Given the description of an element on the screen output the (x, y) to click on. 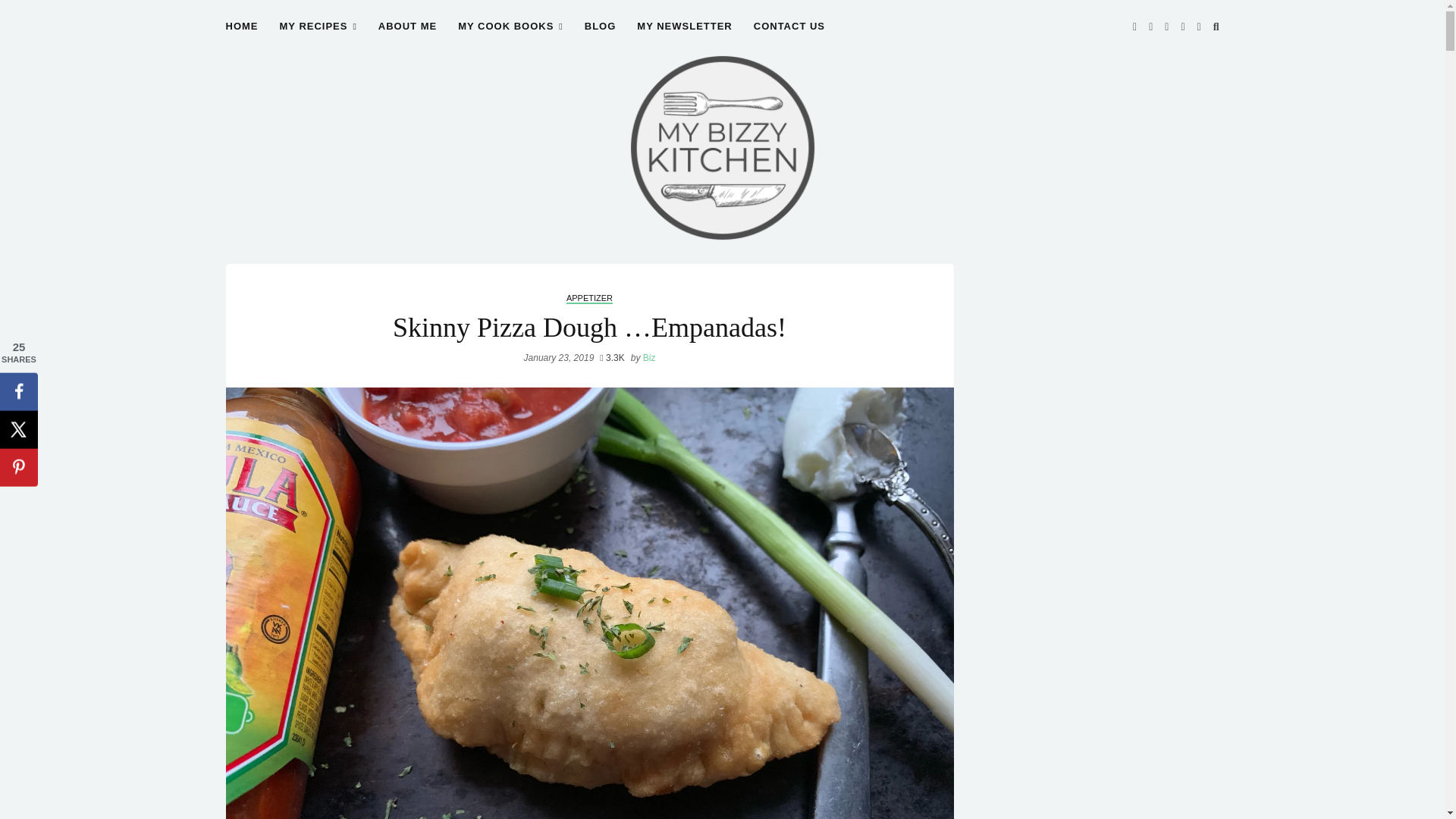
MY RECIPES (317, 35)
HOME (242, 35)
